Given the description of an element on the screen output the (x, y) to click on. 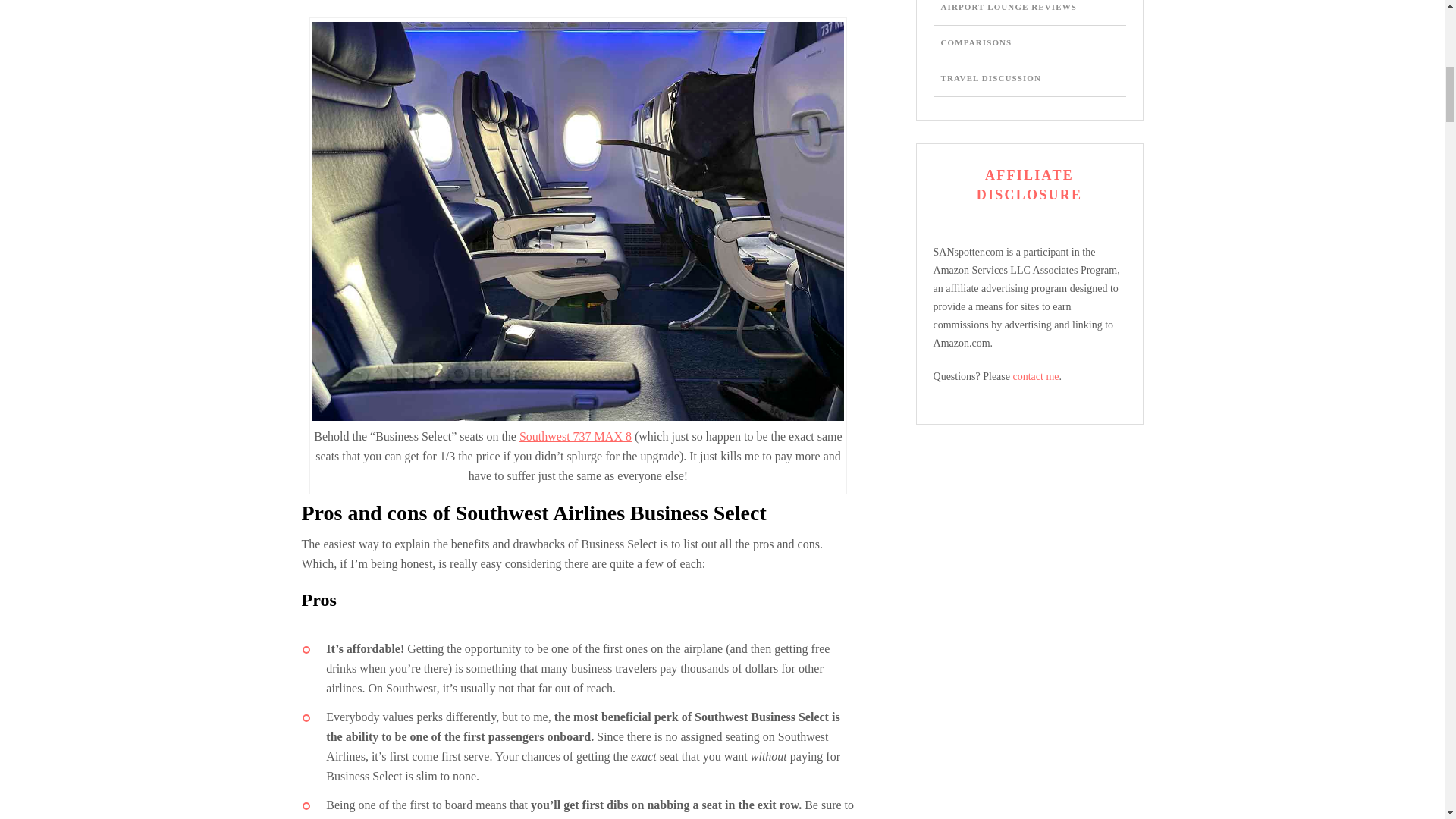
Southwest 737 MAX 8 (575, 436)
